Given the description of an element on the screen output the (x, y) to click on. 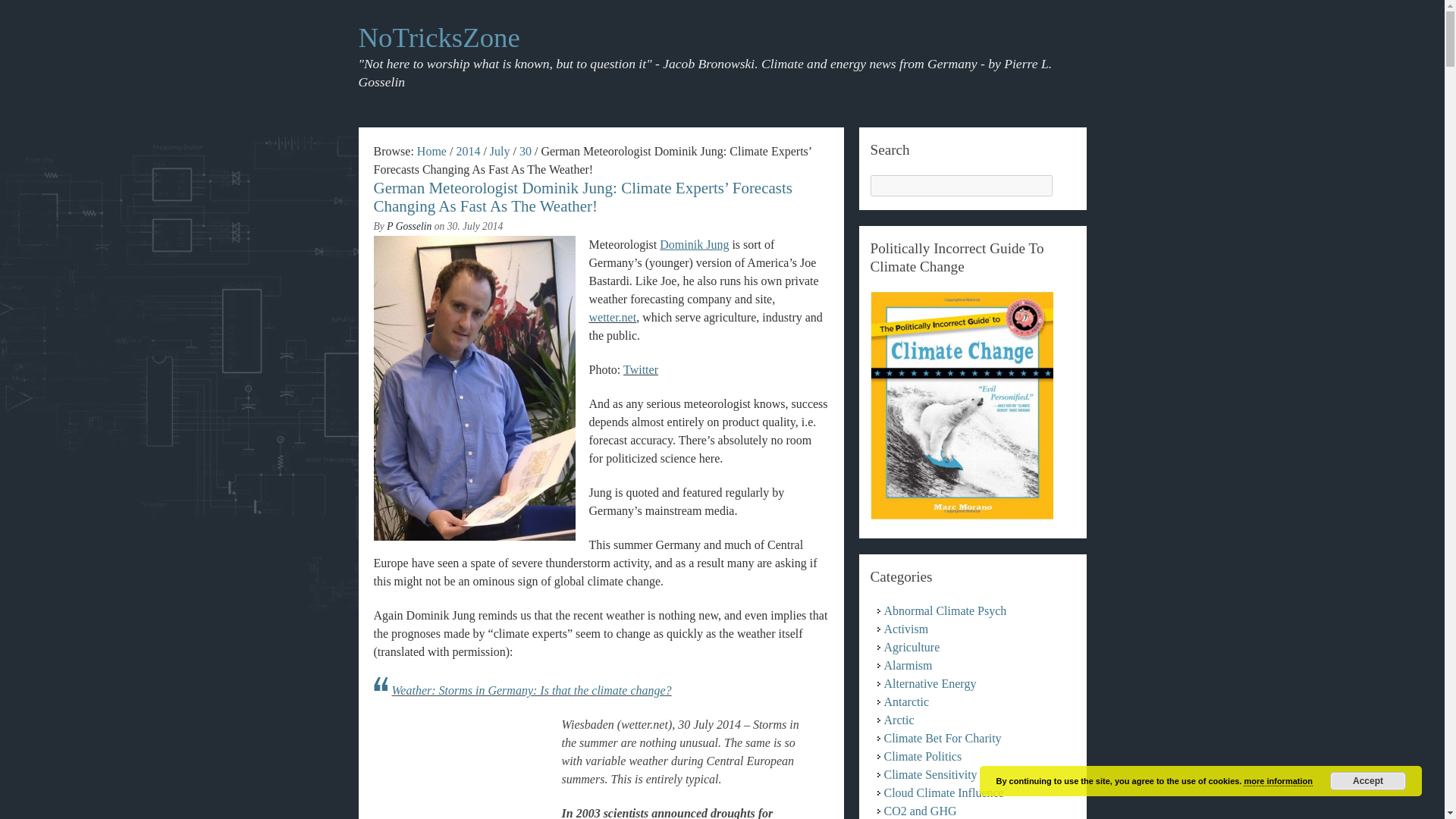
Arctic (898, 719)
P Gosselin (408, 225)
2014 (467, 151)
Dominik Jung (694, 244)
Weather: Storms in Germany: Is that the climate change? (531, 689)
Climate Bet For Charity (942, 738)
Home (431, 151)
Advertisement (475, 771)
Climate Politics (922, 756)
NoTricksZone (438, 37)
July 30, 2014 (525, 151)
Activism (905, 628)
Agriculture (911, 646)
NoTricksZone (438, 37)
July 2014 (500, 151)
